Given the description of an element on the screen output the (x, y) to click on. 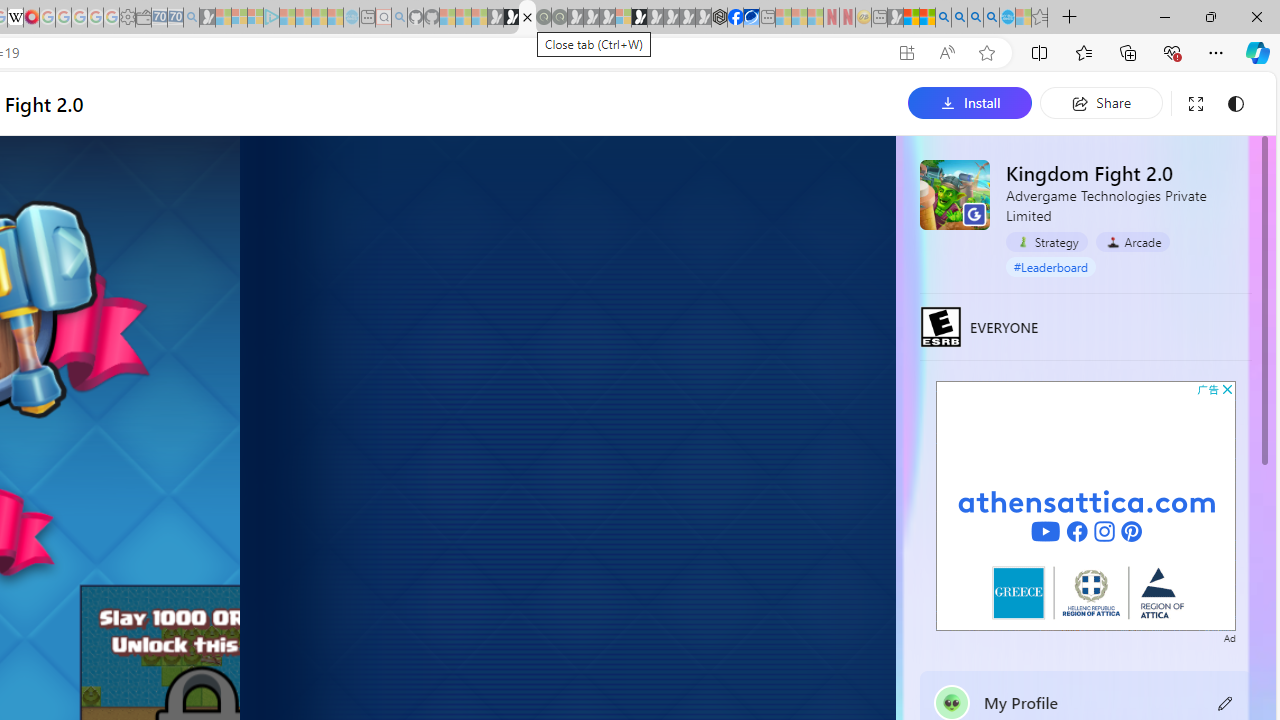
Arcade (1132, 241)
Home | Sky Blue Bikes - Sky Blue Bikes - Sleeping (351, 17)
MSN - Sleeping (895, 17)
2009 Bing officially replaced Live Search on June 3 - Search (959, 17)
